Given the description of an element on the screen output the (x, y) to click on. 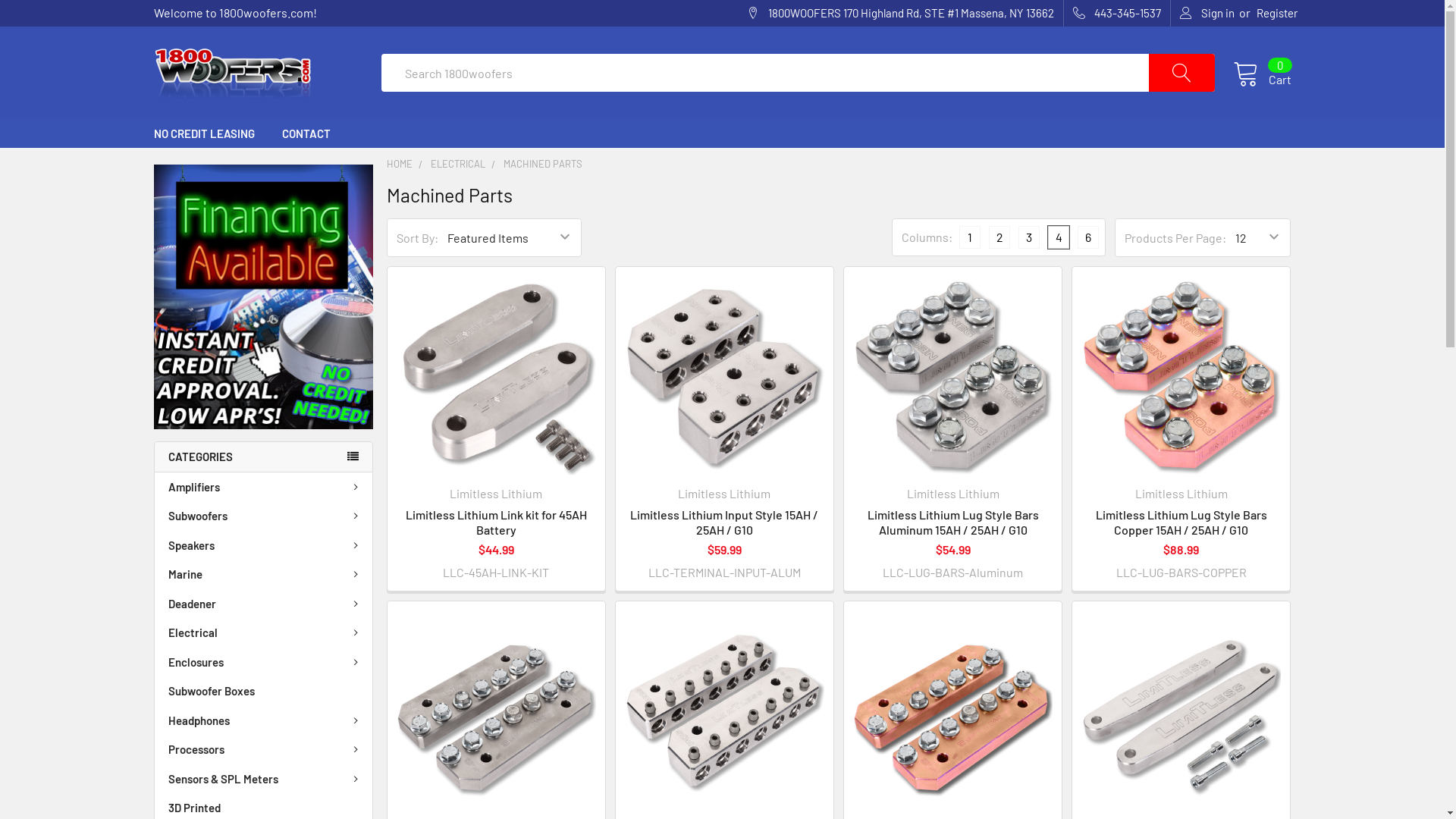
Processors Element type: text (263, 749)
Sensors & SPL Meters Element type: text (263, 778)
Limitless Lithium Link kit  for 45AH Battery Element type: hover (496, 375)
Limitless Lithium Input Style 15AH / 25AH / G10 Element type: text (724, 521)
HOME Element type: text (399, 163)
Deadener Element type: text (263, 603)
Limitless Lithium Set Screw Bars 45AH Battery Element type: hover (724, 709)
1800woofers.com Element type: hover (231, 72)
Limitless Lithium Link kit  for 25AH Battery Element type: hover (1180, 709)
Limitless Lithium Lug Style Bars Copper 15AH / 25AH / G10 Element type: hover (1180, 375)
Subwoofer Boxes Element type: text (263, 691)
Electrical Element type: text (263, 632)
ELECTRICAL Element type: text (457, 163)
Enclosures Element type: text (263, 662)
Limitless Lithium Lug Style Bars Aluminum 15AH / 25AH / G10 Element type: text (952, 521)
Register Element type: text (1275, 13)
Limitless Lithium Lug Style Bars Aluminum 15AH / 25AH / G10 Element type: hover (952, 375)
No Credit Needed, Just a Click Away! Element type: hover (262, 296)
CATEGORIES Element type: text (262, 456)
443-345-1537 Element type: text (1116, 13)
Limitless Lithium Lug style Buss Bars 45AH COPPER Element type: hover (952, 709)
MACHINED PARTS Element type: text (542, 163)
Marine Element type: text (263, 574)
Search Element type: text (1191, 72)
Subwoofers Element type: text (263, 515)
Limitless Lithium Lug Style Bars Copper 15AH / 25AH / G10 Element type: text (1181, 521)
NO CREDIT LEASING Element type: text (203, 132)
Cart
0 Element type: text (1262, 72)
Sign in Element type: text (1206, 13)
Limitless Lithium Link kit for 45AH Battery Element type: text (495, 521)
Headphones Element type: text (263, 720)
Limitless Lithium Input Style 15AH / 25AH / G10 Element type: hover (724, 375)
Speakers Element type: text (263, 545)
Limitless Lithium Lug Style Bars 45AH Battery Element type: hover (496, 709)
Amplifiers Element type: text (263, 487)
CONTACT Element type: text (306, 132)
